Given the description of an element on the screen output the (x, y) to click on. 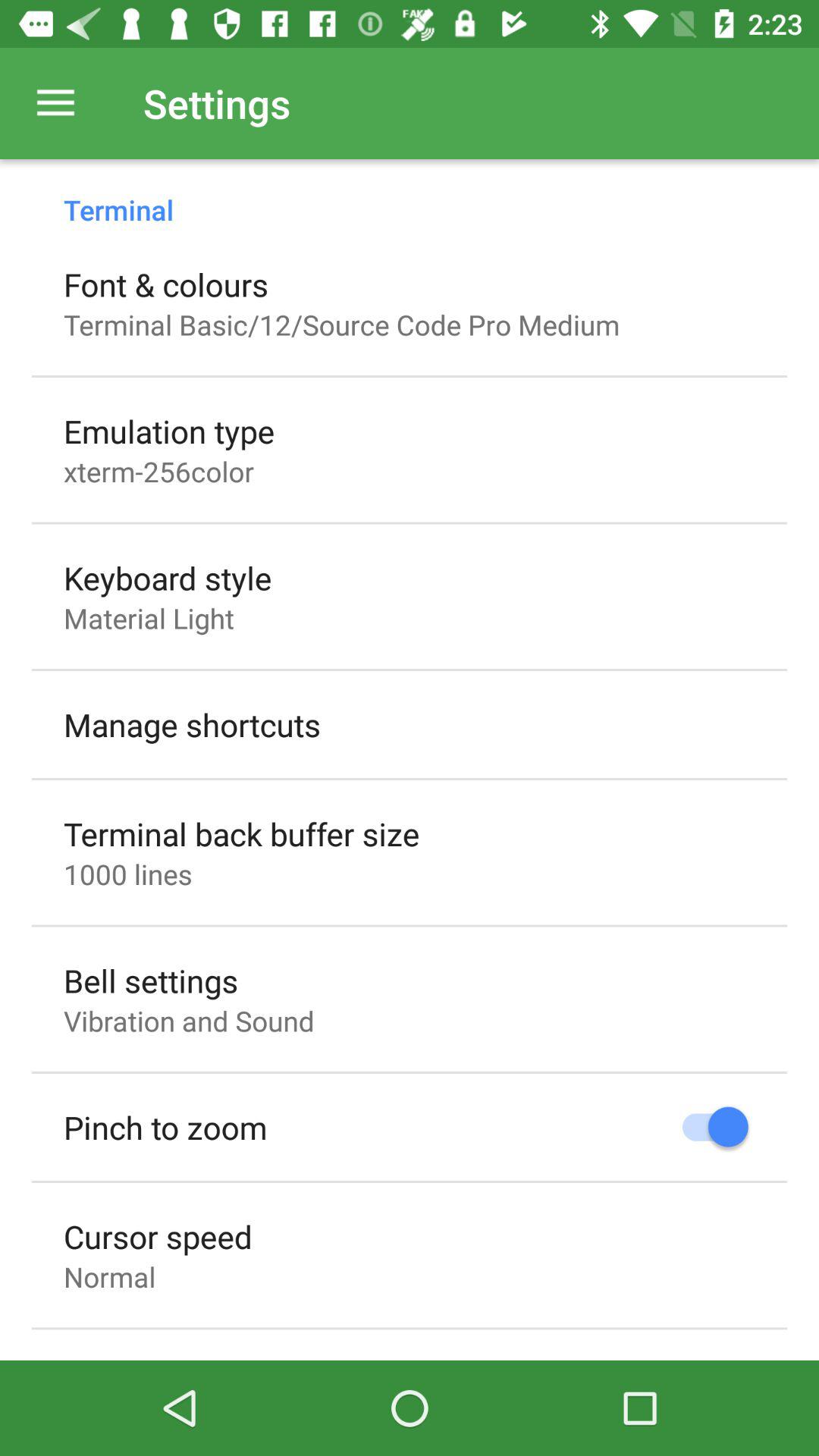
tap vibration and sound icon (188, 1020)
